Given the description of an element on the screen output the (x, y) to click on. 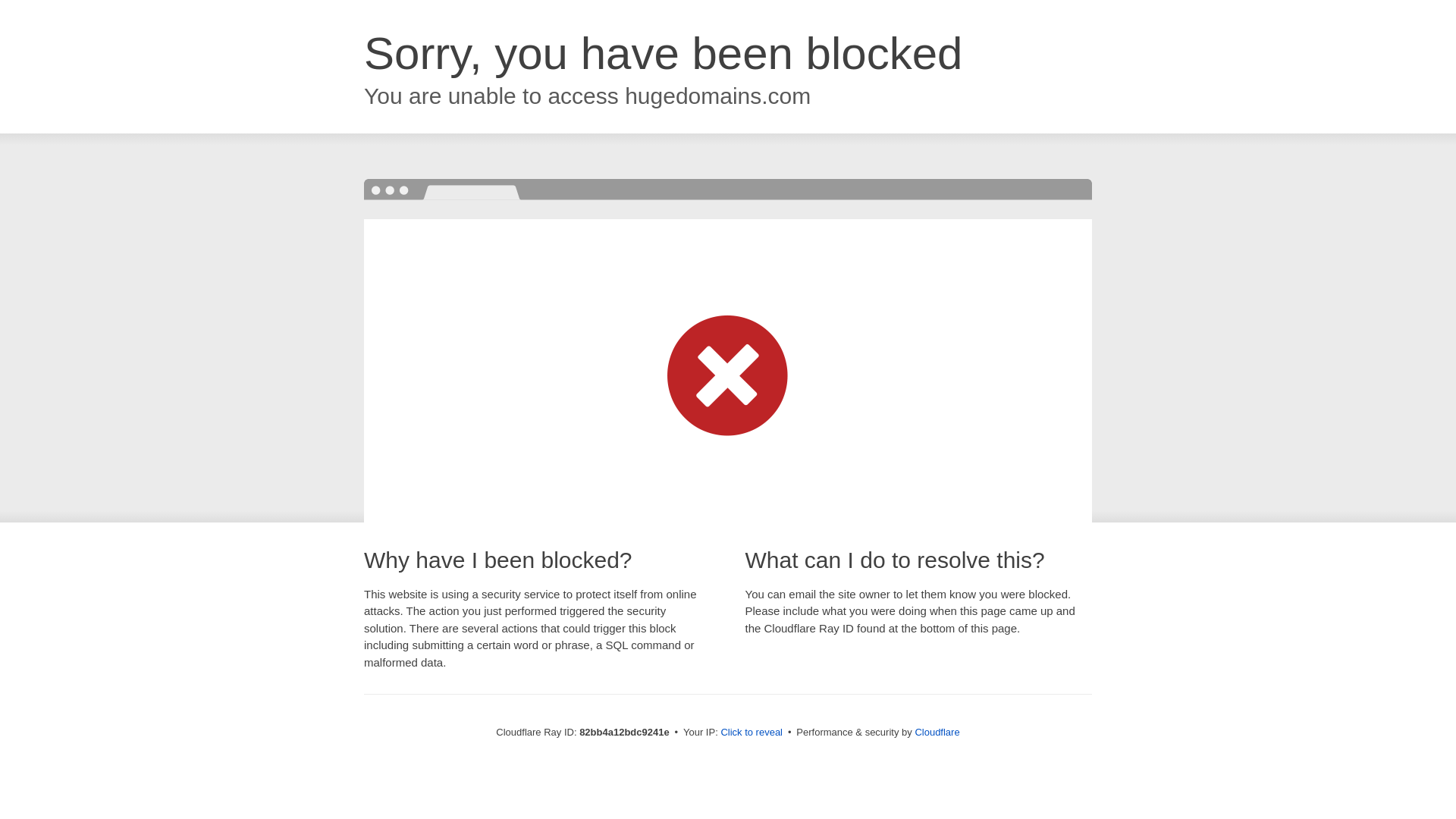
Cloudflare Element type: text (936, 731)
Click to reveal Element type: text (751, 732)
